Given the description of an element on the screen output the (x, y) to click on. 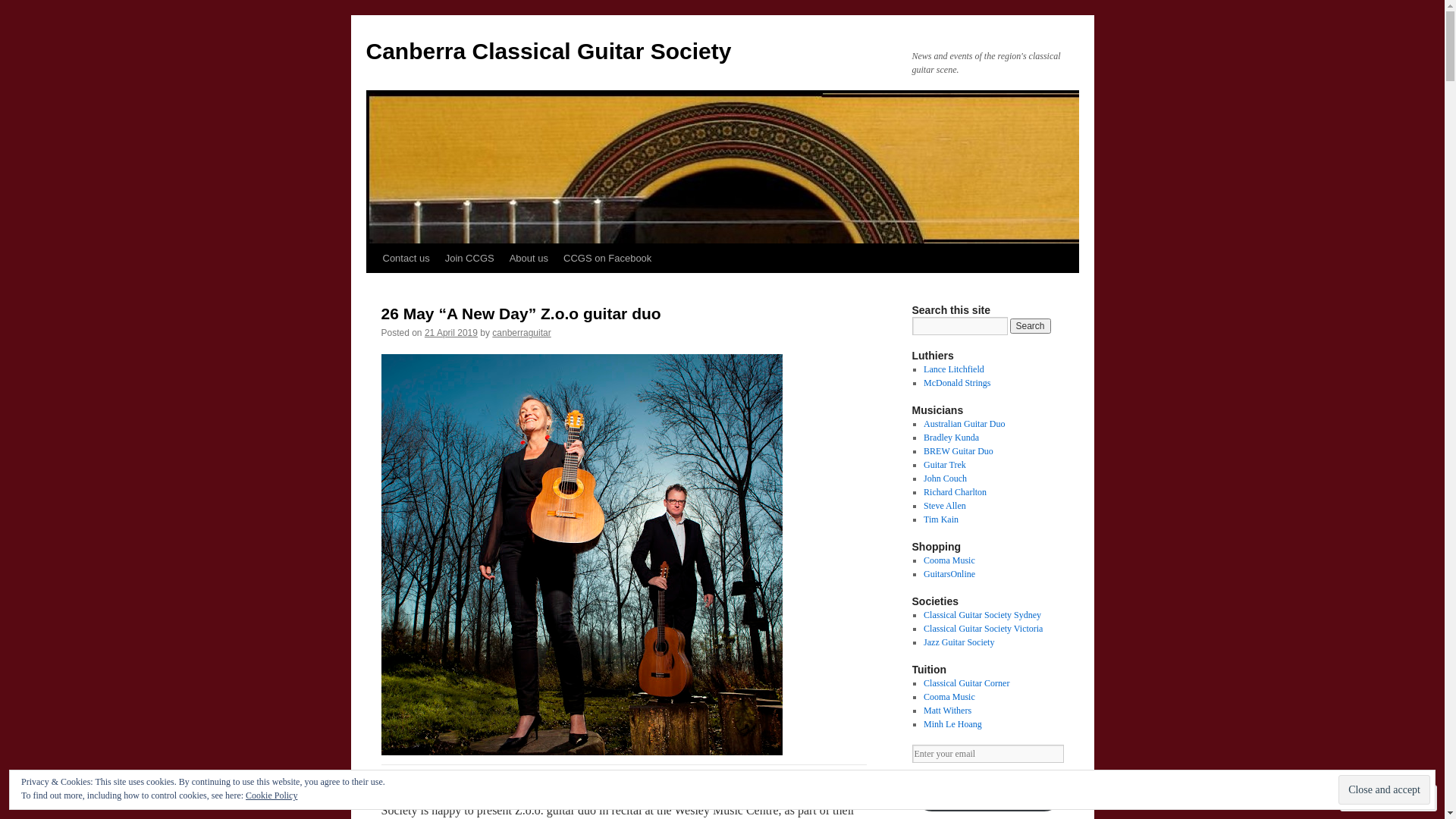
Cookie Policy Element type: text (271, 795)
Contact us Element type: text (405, 258)
CCGS on Facebook Element type: text (606, 258)
McDonald Strings Element type: text (956, 382)
21 April 2019 Element type: text (450, 332)
Follow Element type: text (1374, 797)
Guitar Trek Element type: text (944, 464)
Tim Kain Element type: text (940, 519)
Classical Guitar Society Victoria Element type: text (982, 628)
Jazz Guitar Society Element type: text (958, 642)
Classical Guitar Society Sydney Element type: text (982, 614)
Minh Le Hoang Element type: text (952, 723)
Richard Charlton Element type: text (954, 491)
canberraguitar Element type: text (521, 332)
GuitarsOnline Element type: text (949, 573)
Cooma Music Element type: text (949, 696)
Steve Allen Element type: text (944, 505)
Join CCGS Element type: text (469, 258)
John Couch Element type: text (944, 478)
Lance Litchfield Element type: text (953, 369)
Cooma Music Element type: text (949, 560)
Matt Withers Element type: text (947, 710)
Close and accept Element type: text (1384, 789)
Australian Guitar Duo Element type: text (963, 423)
Guitar Society Newsletter Signup Element type: text (987, 791)
About us Element type: text (528, 258)
Canberra Classical Guitar Society Element type: text (548, 50)
Search Element type: text (1030, 325)
Classical Guitar Corner Element type: text (966, 682)
BREW Guitar Duo Element type: text (958, 450)
Bradley Kunda Element type: text (951, 437)
Enter your email Element type: hover (987, 753)
